Given the description of an element on the screen output the (x, y) to click on. 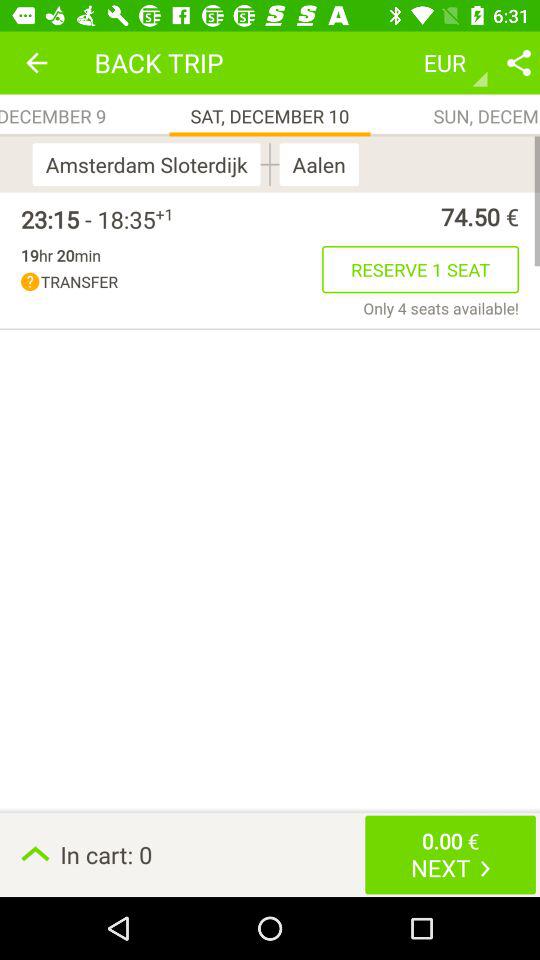
turn on the item below the 23 15 18 item (60, 255)
